Given the description of an element on the screen output the (x, y) to click on. 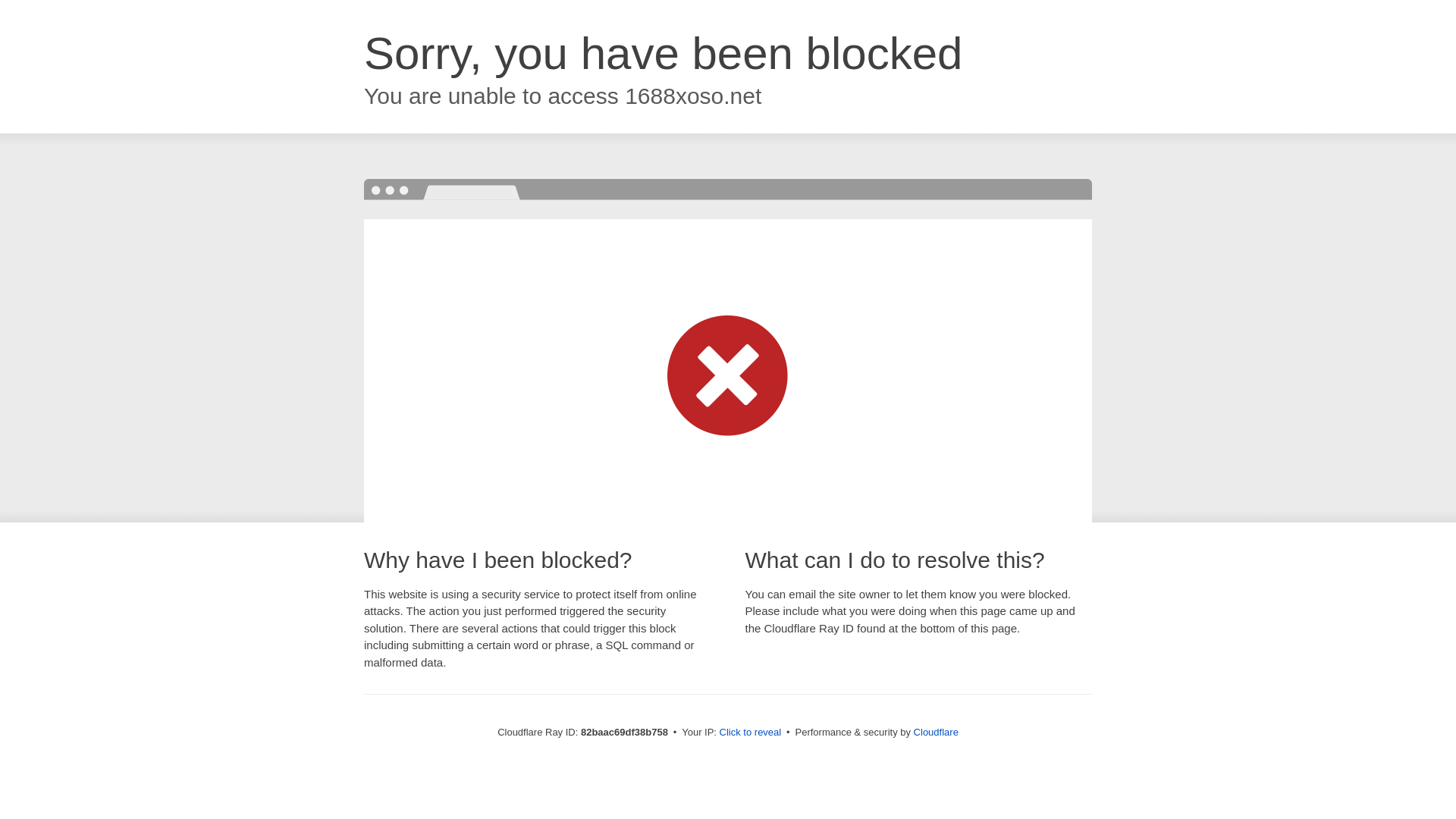
Click to reveal Element type: text (750, 732)
Cloudflare Element type: text (935, 731)
